Given the description of an element on the screen output the (x, y) to click on. 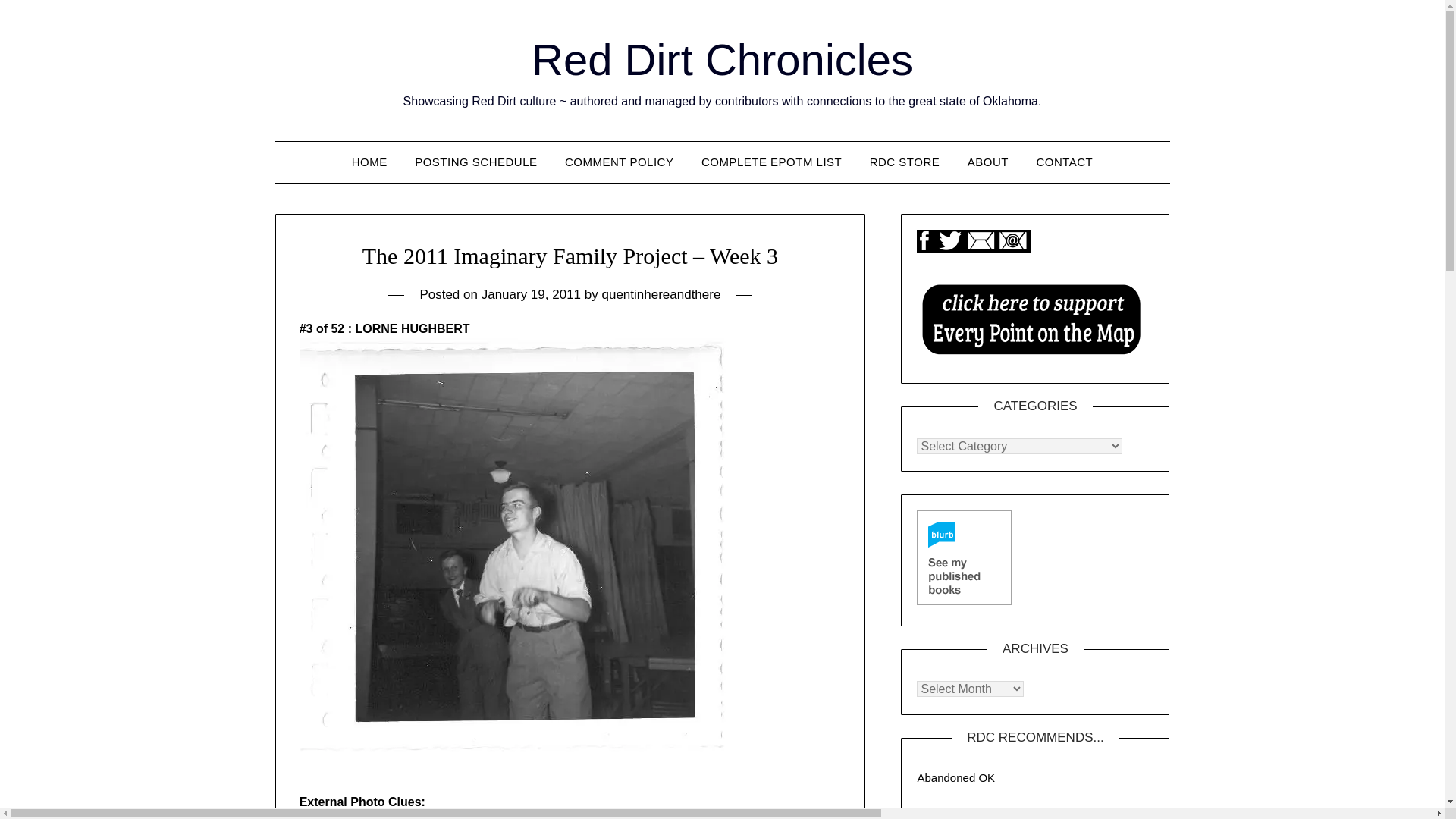
HOME (368, 161)
POSTING SCHEDULE (475, 161)
See my published books (964, 557)
COMPLETE EPOTM LIST (770, 161)
Oklahoma Markers, Fun Facts, etc. (987, 811)
COMMENT POLICY (619, 161)
Red Dirt Chronicles (721, 59)
